Given the description of an element on the screen output the (x, y) to click on. 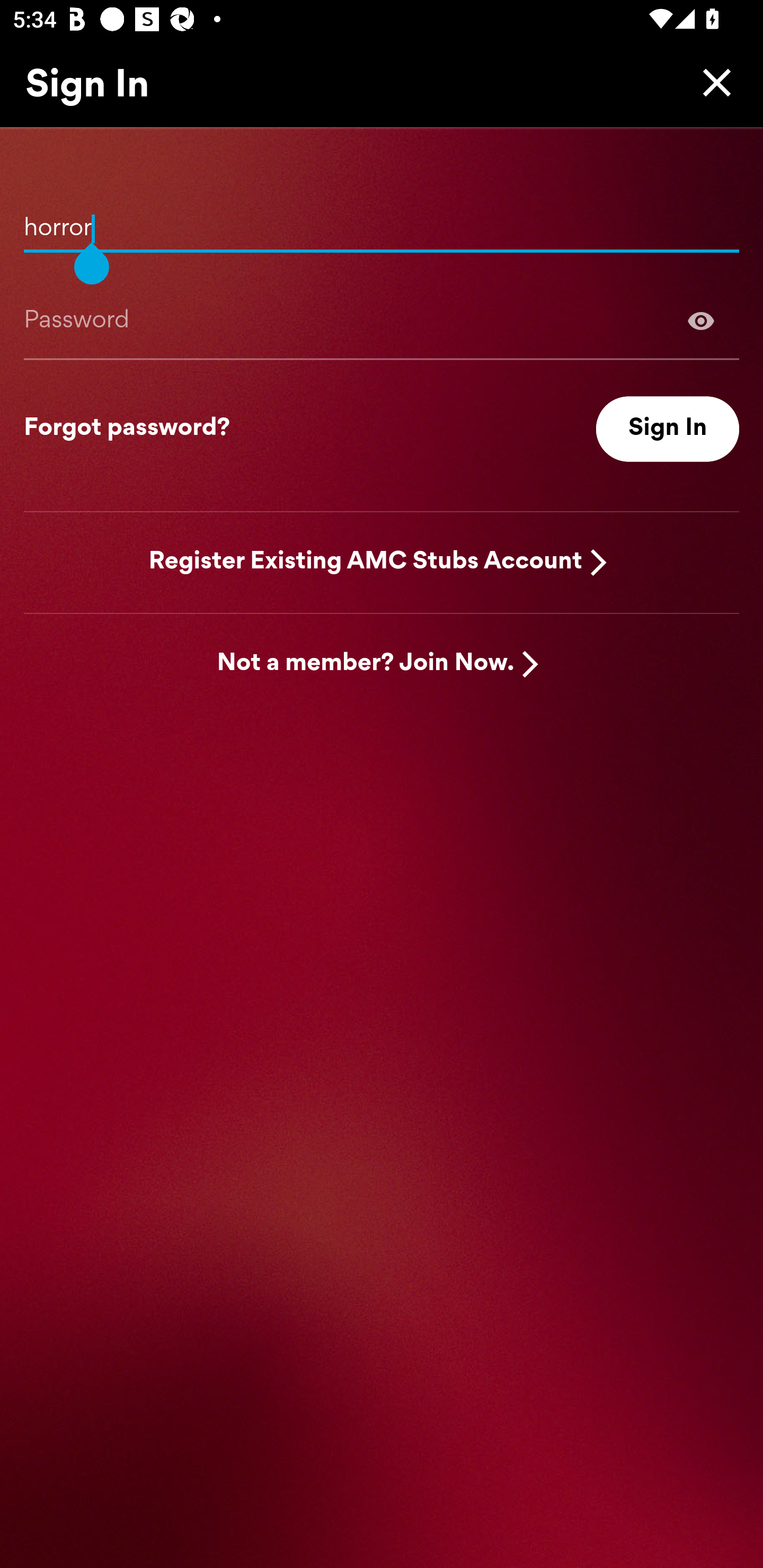
Close (712, 82)
horror (381, 220)
Show Password (381, 320)
Show Password (701, 320)
Forgot password? (126, 428)
Sign In (667, 428)
Register Existing AMC Stubs Account (365, 561)
Not a member? Join Now. (365, 663)
